Given the description of an element on the screen output the (x, y) to click on. 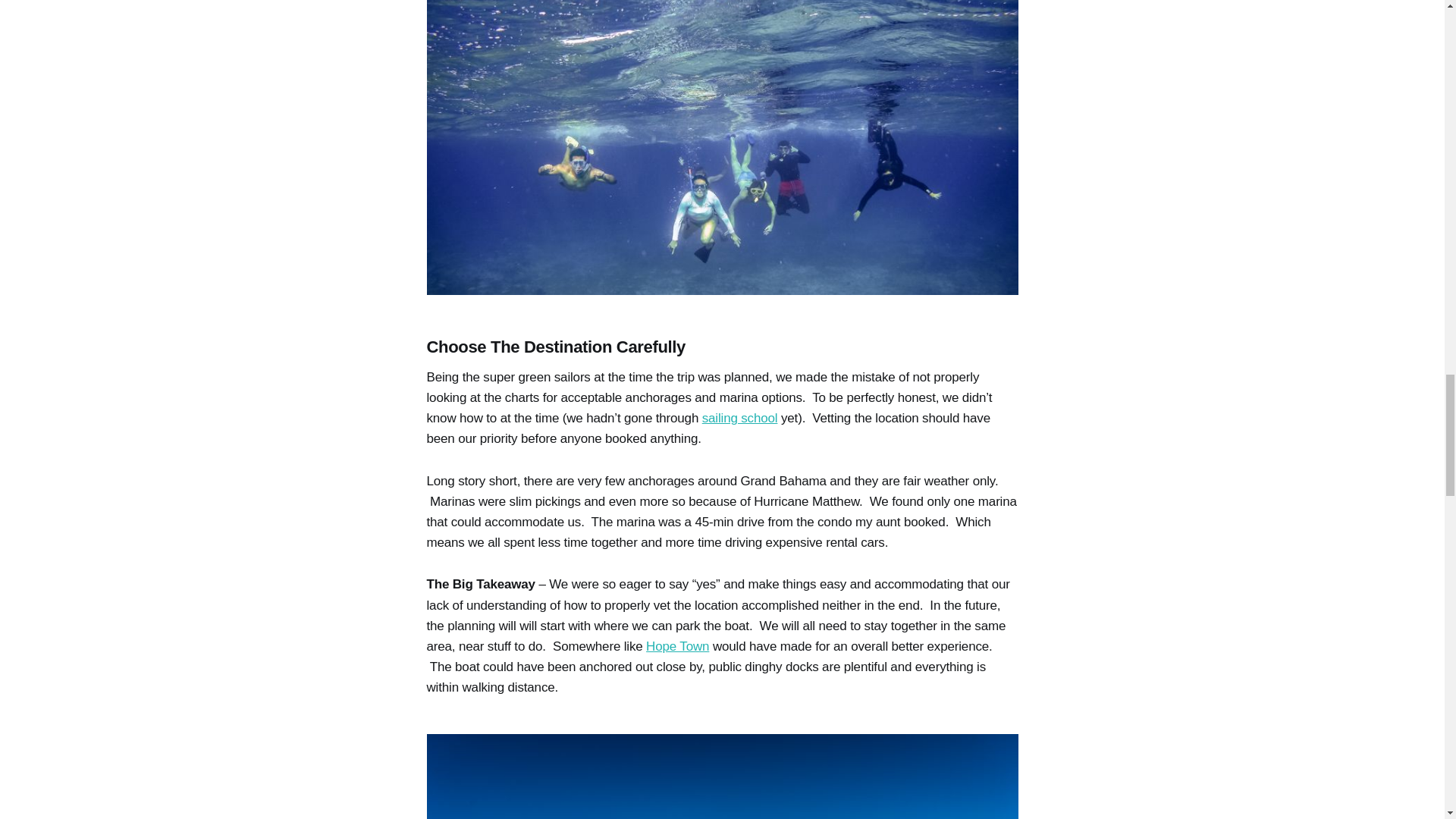
sailing school (739, 418)
Hope Town (677, 646)
